Given the description of an element on the screen output the (x, y) to click on. 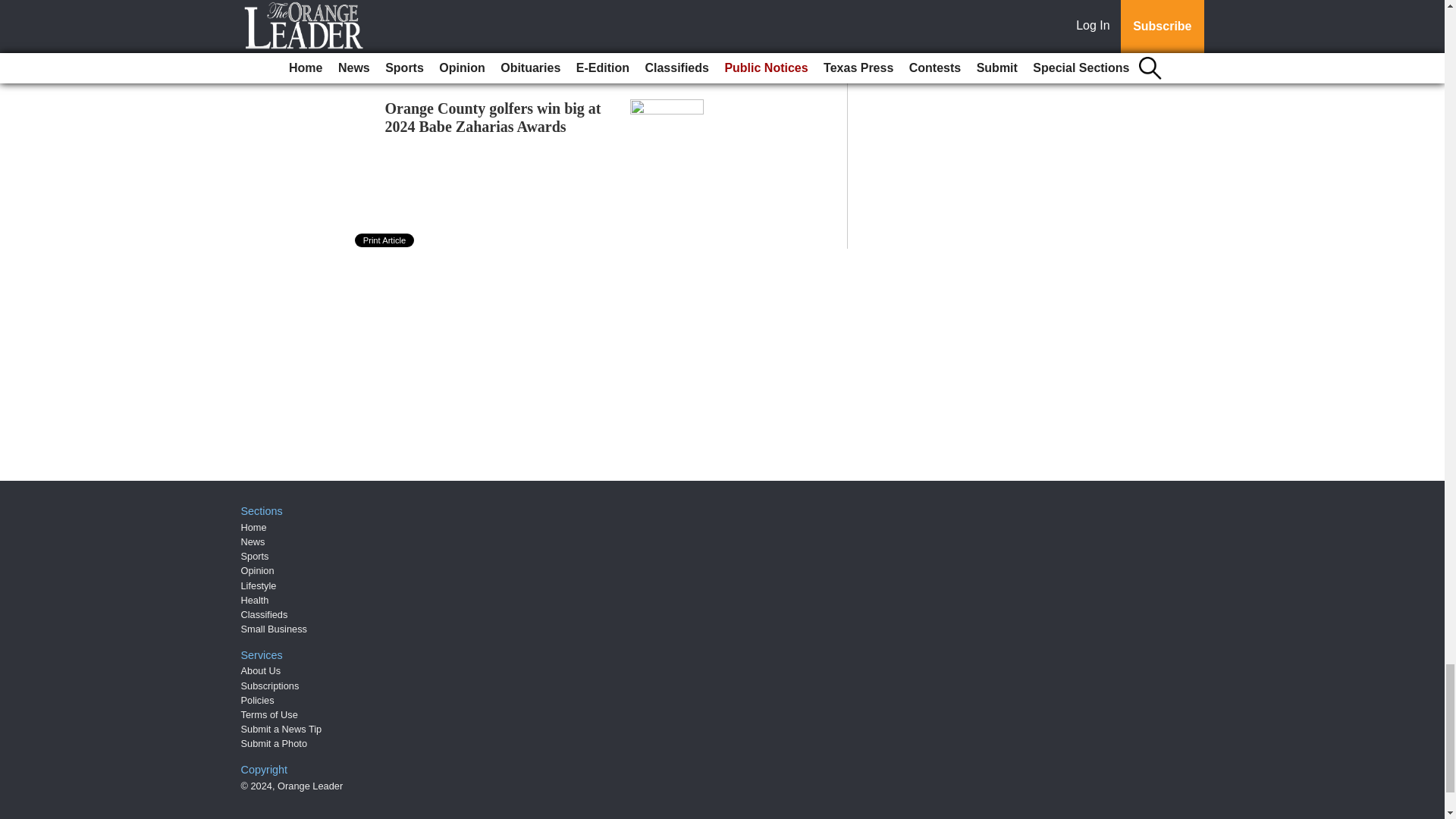
Print Article (384, 240)
Home (253, 527)
Orange County golfers win big at 2024 Babe Zaharias Awards (493, 117)
Sports (255, 555)
News (252, 541)
Orange County golfers win big at 2024 Babe Zaharias Awards (493, 117)
